Given the description of an element on the screen output the (x, y) to click on. 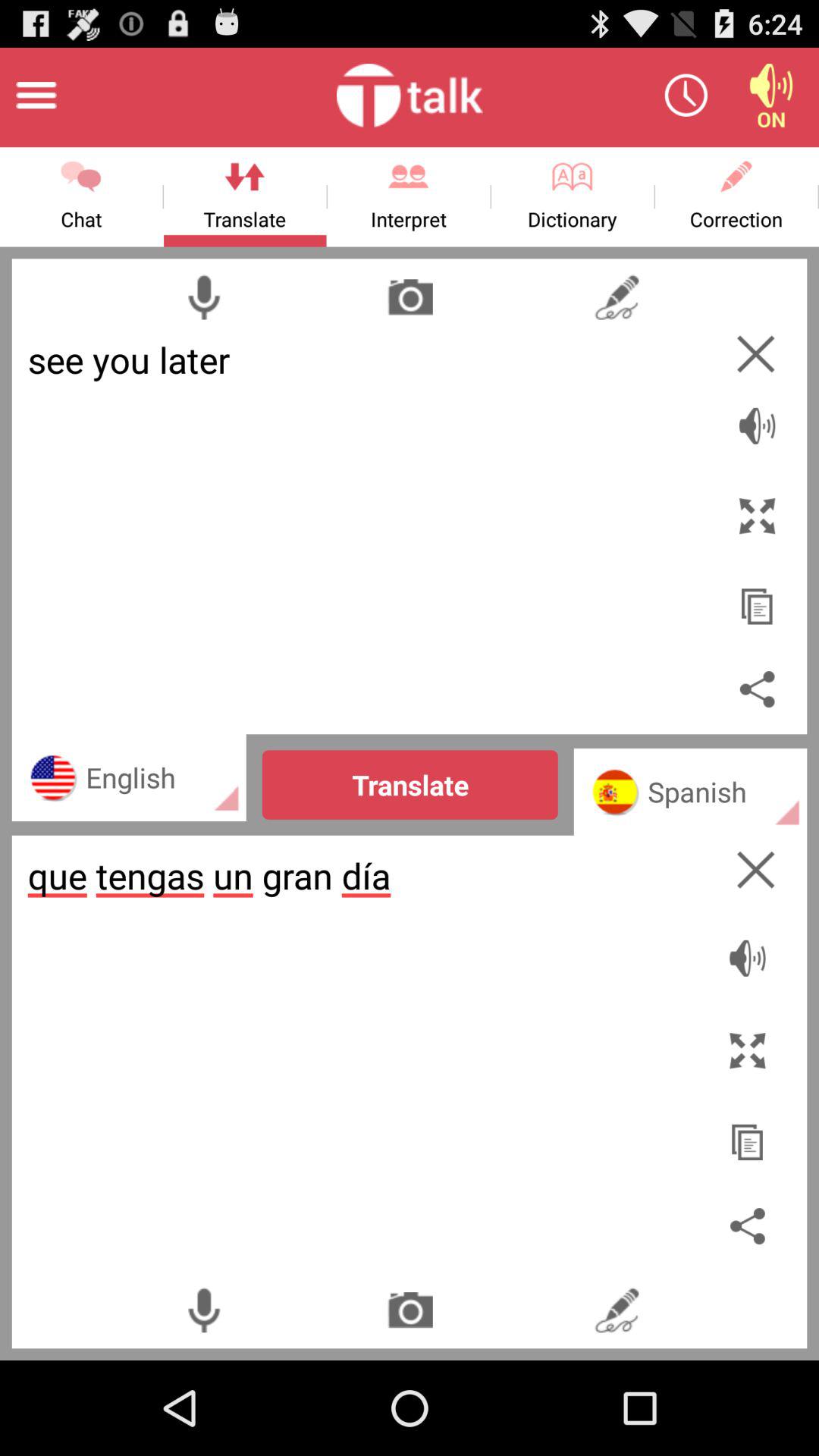
toggle sound (750, 950)
